Given the description of an element on the screen output the (x, y) to click on. 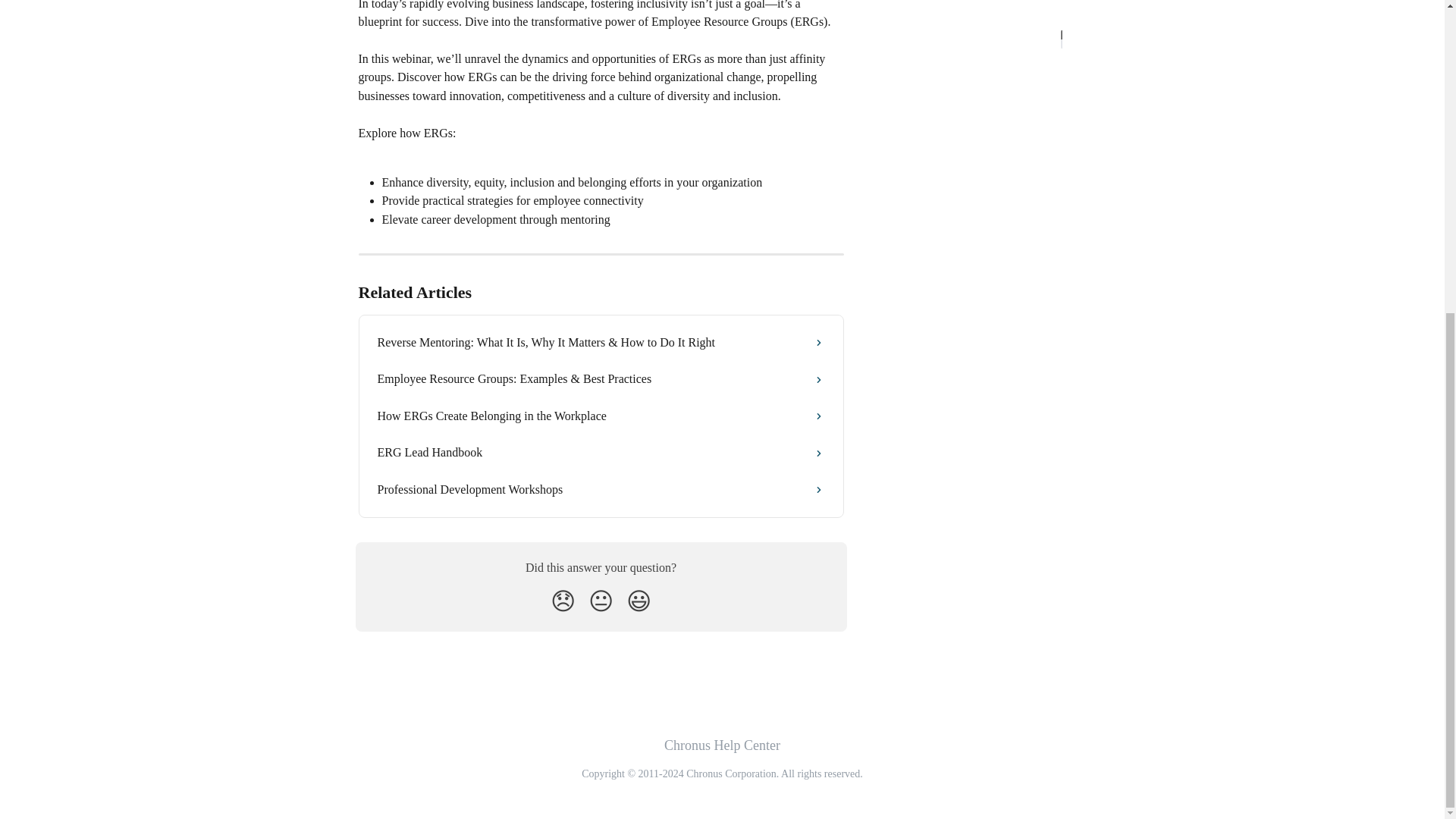
ERG Lead Handbook (601, 452)
Smiley (638, 601)
Professional Development Workshops (601, 489)
Chronus Help Center (721, 744)
Disappointed (562, 601)
How ERGs Create Belonging in the Workplace (601, 416)
Neutral (600, 601)
